Given the description of an element on the screen output the (x, y) to click on. 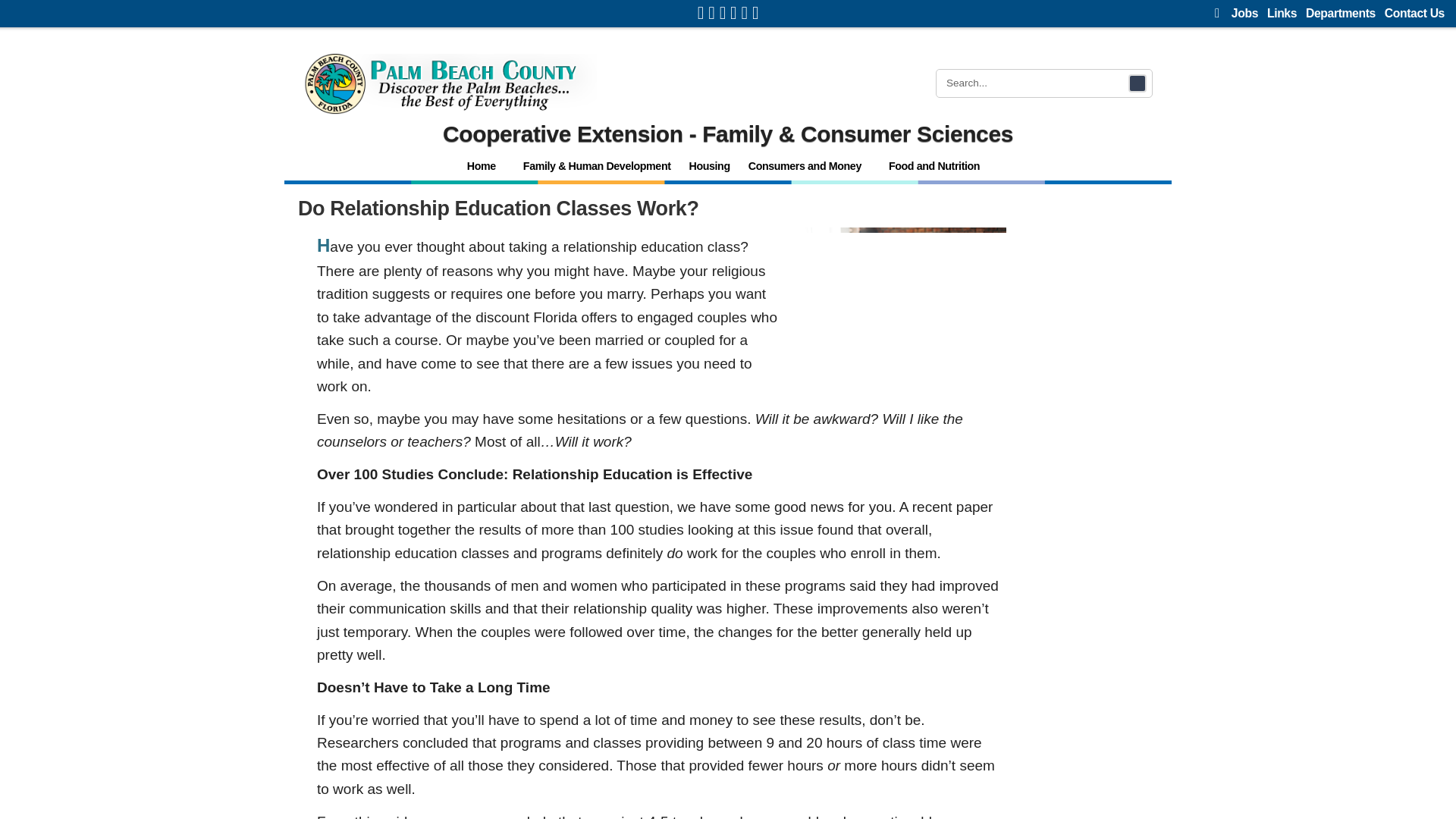
Search (1137, 83)
Contact Us (1414, 12)
Housing (709, 165)
Jobs (1244, 12)
Search... (1037, 83)
Links (1281, 12)
Home (486, 165)
Search... (1037, 83)
Departments (1340, 12)
